Given the description of an element on the screen output the (x, y) to click on. 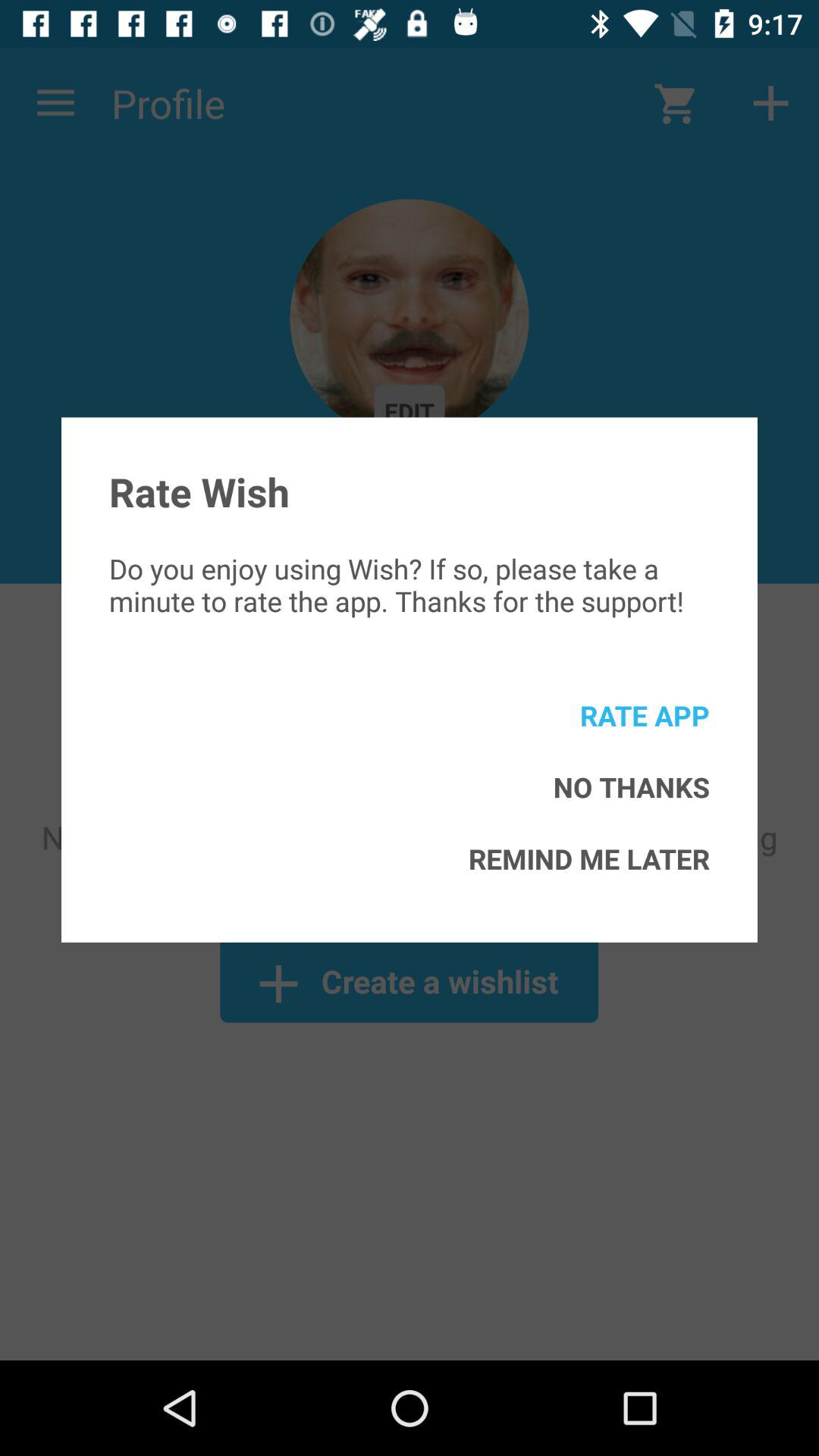
click the item below rate app (631, 786)
